Given the description of an element on the screen output the (x, y) to click on. 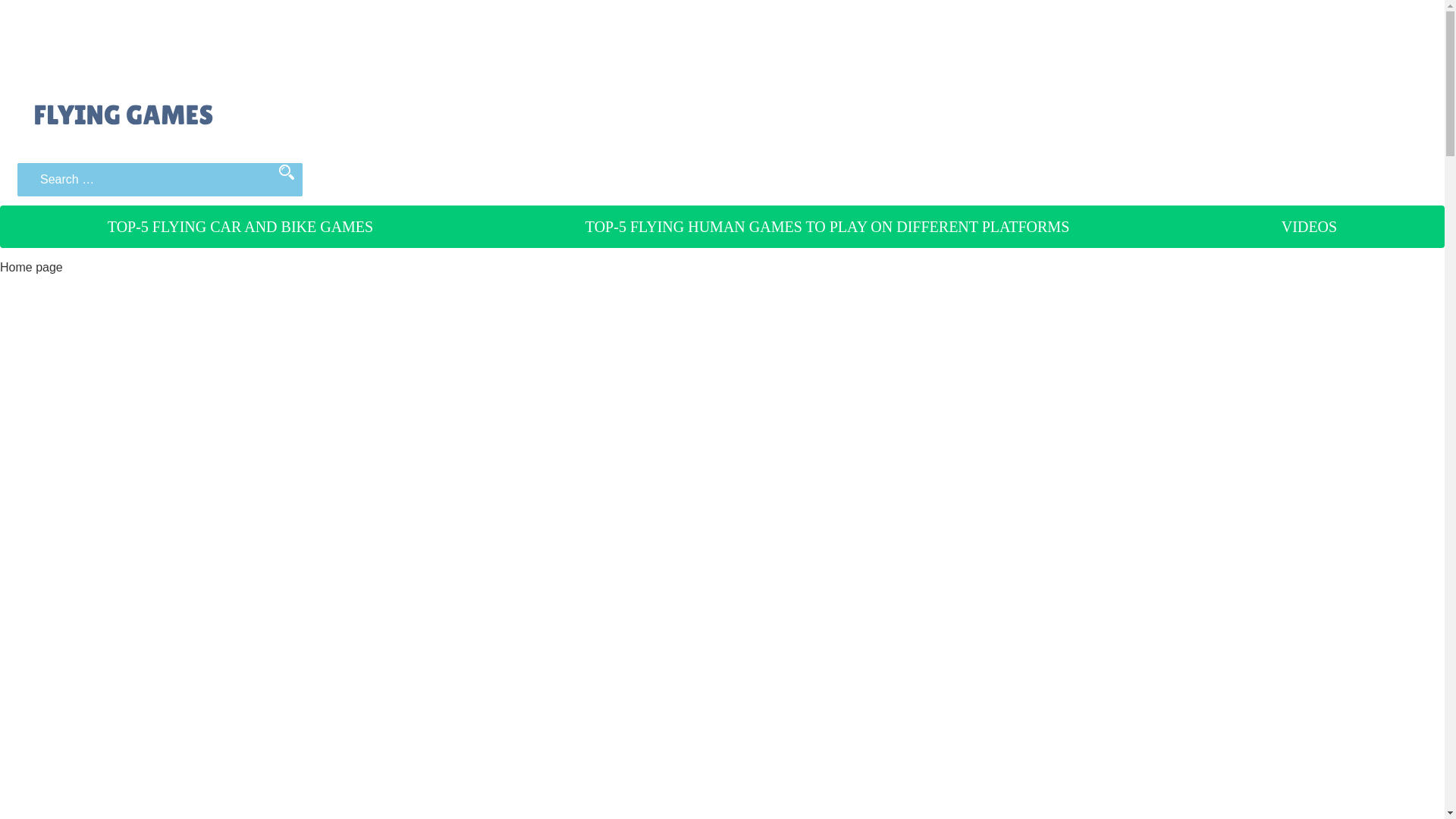
TOP-5 FLYING CAR AND BIKE GAMES (240, 226)
Home page (31, 267)
TOP-5 FLYING HUMAN GAMES TO PLAY ON DIFFERENT PLATFORMS (826, 226)
VIDEOS (1308, 226)
